Given the description of an element on the screen output the (x, y) to click on. 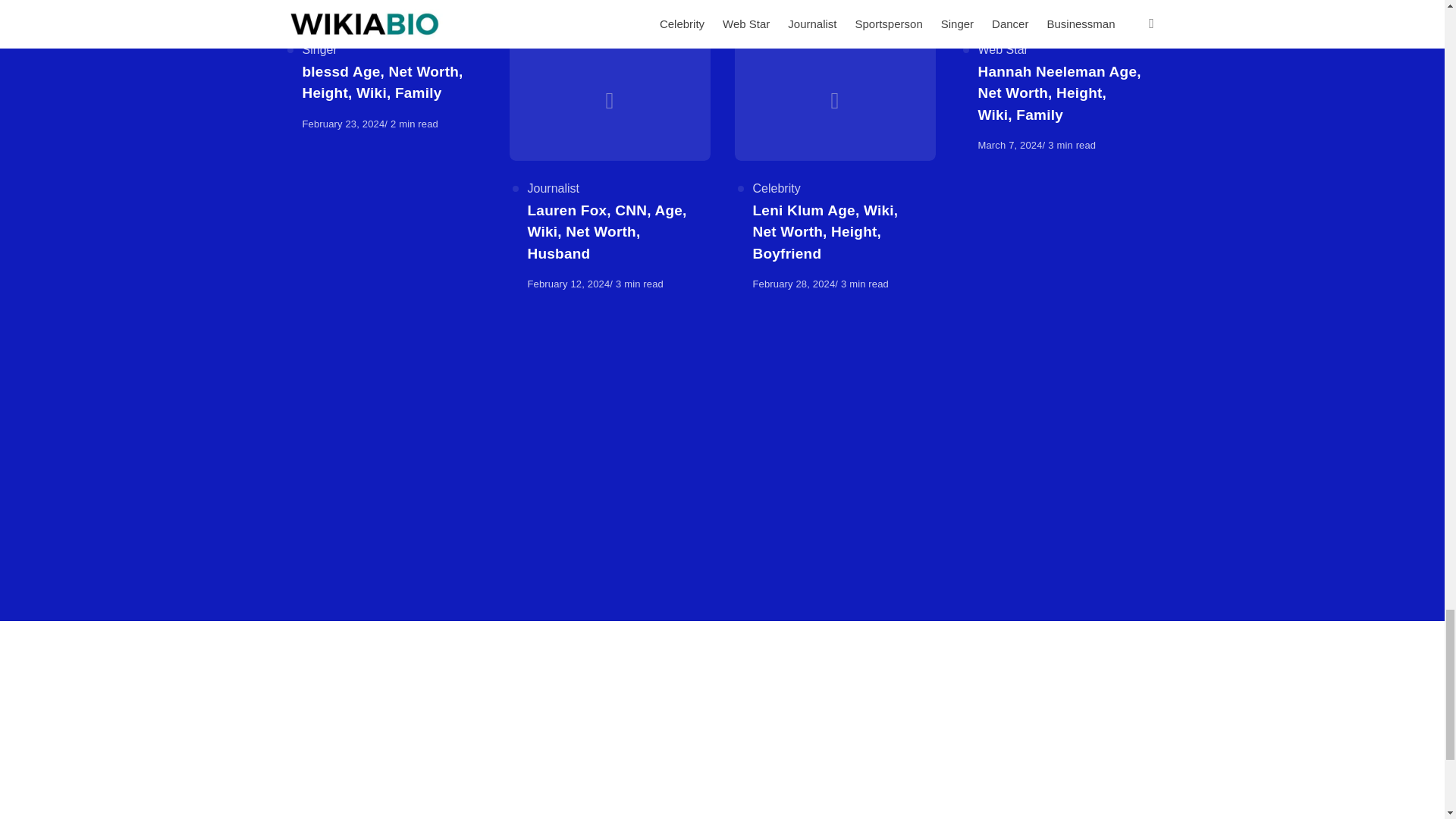
February 23, 2024 (342, 123)
February 28, 2024 (793, 283)
February 12, 2024 (568, 283)
March 7, 2024 (1010, 144)
